Given the description of an element on the screen output the (x, y) to click on. 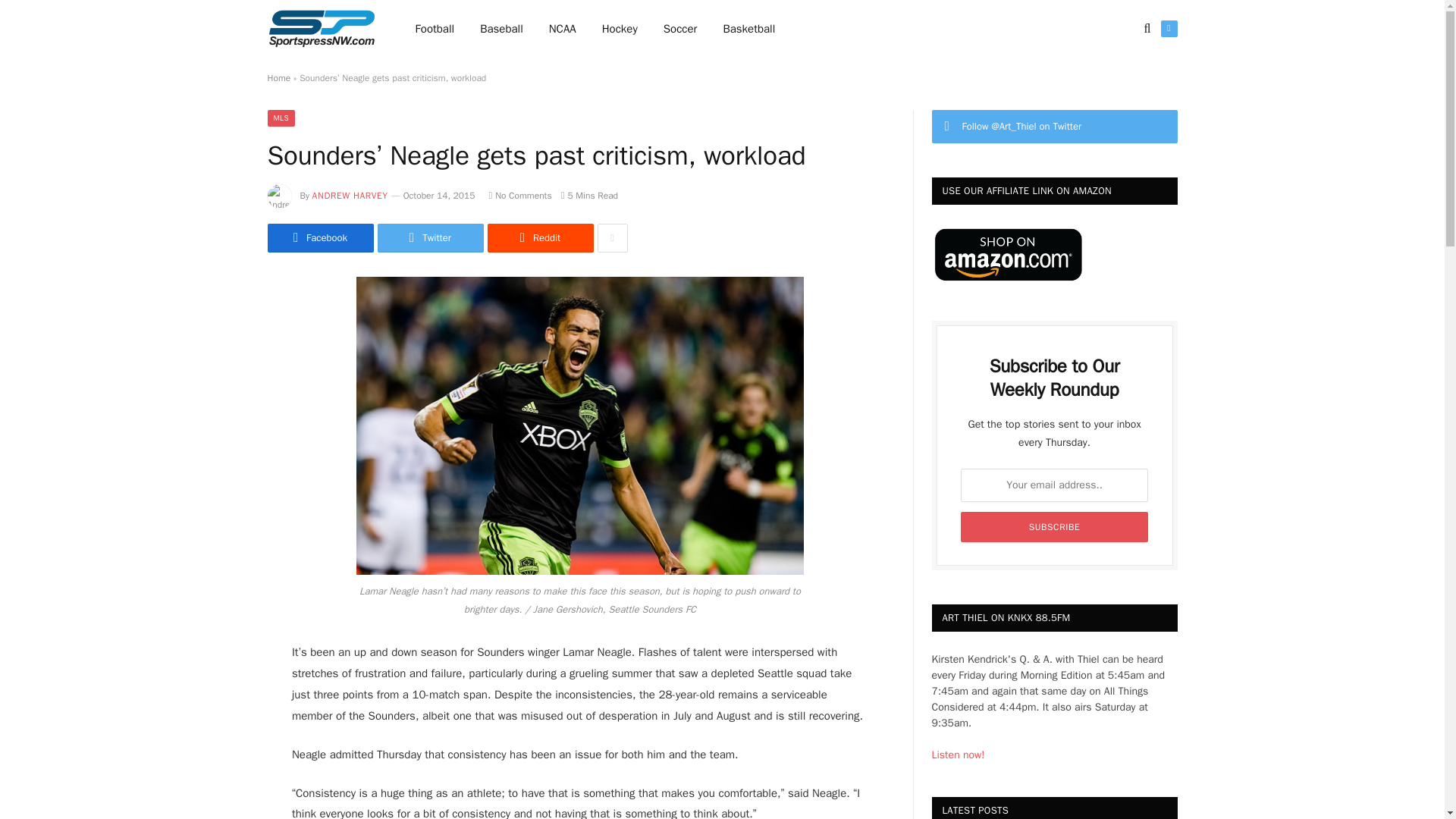
Reddit (539, 237)
Posts by Andrew Harvey (350, 195)
Share on Reddit (539, 237)
Twitter (430, 237)
Sportspress Northwest (320, 28)
Soccer (680, 28)
Facebook (319, 237)
Football (435, 28)
NCAA (562, 28)
Baseball (501, 28)
